Given the description of an element on the screen output the (x, y) to click on. 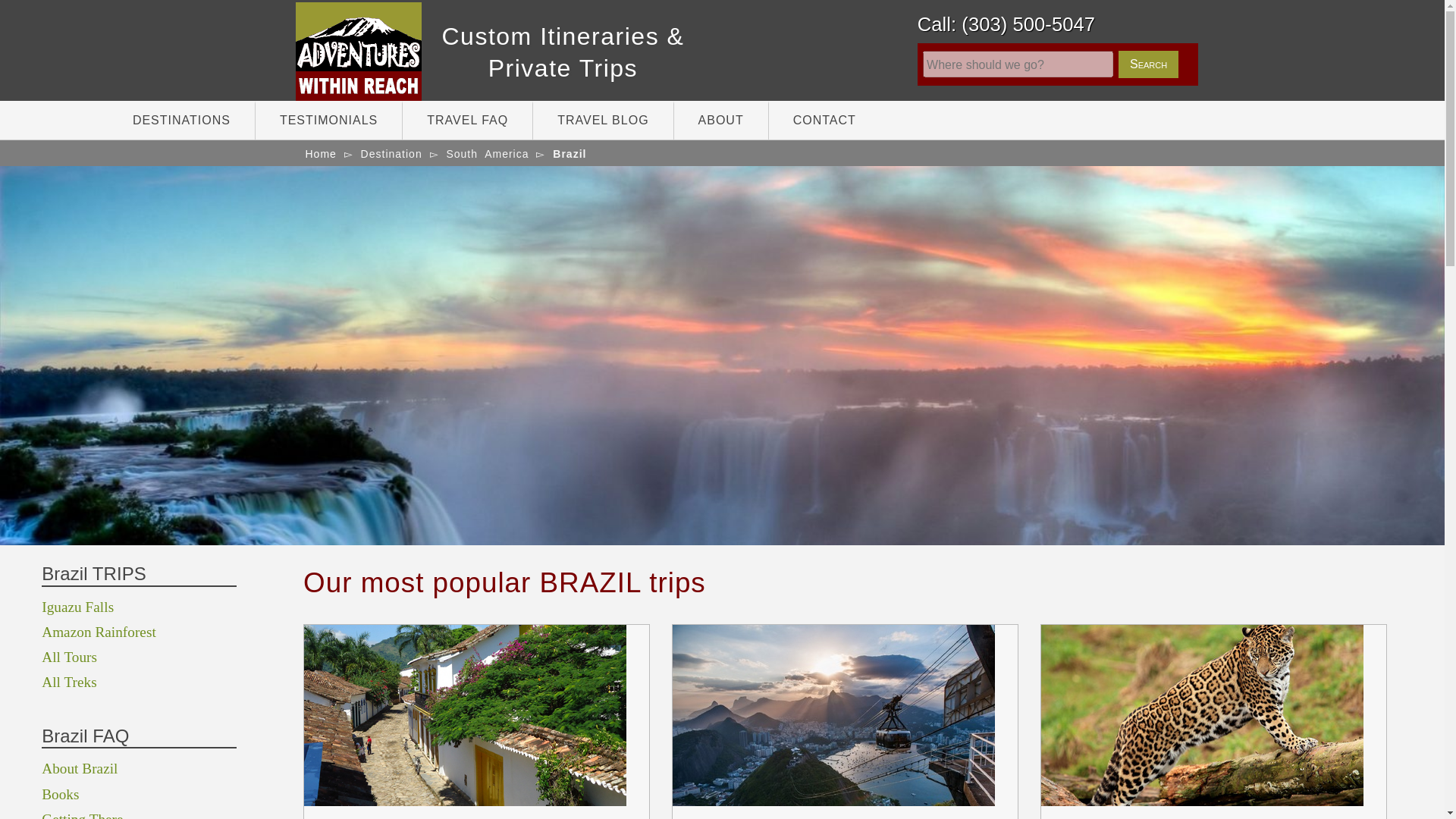
TRAVEL BLOG (602, 119)
TRAVEL FAQ (467, 119)
Search (1147, 63)
CONTACT (824, 119)
TESTIMONIALS (329, 119)
DESTINATIONS (181, 119)
ABOUT (721, 119)
Search (1147, 63)
Adventures Within Reach (562, 43)
Search for: (1018, 63)
Adventures Within Reach (382, 51)
